Given the description of an element on the screen output the (x, y) to click on. 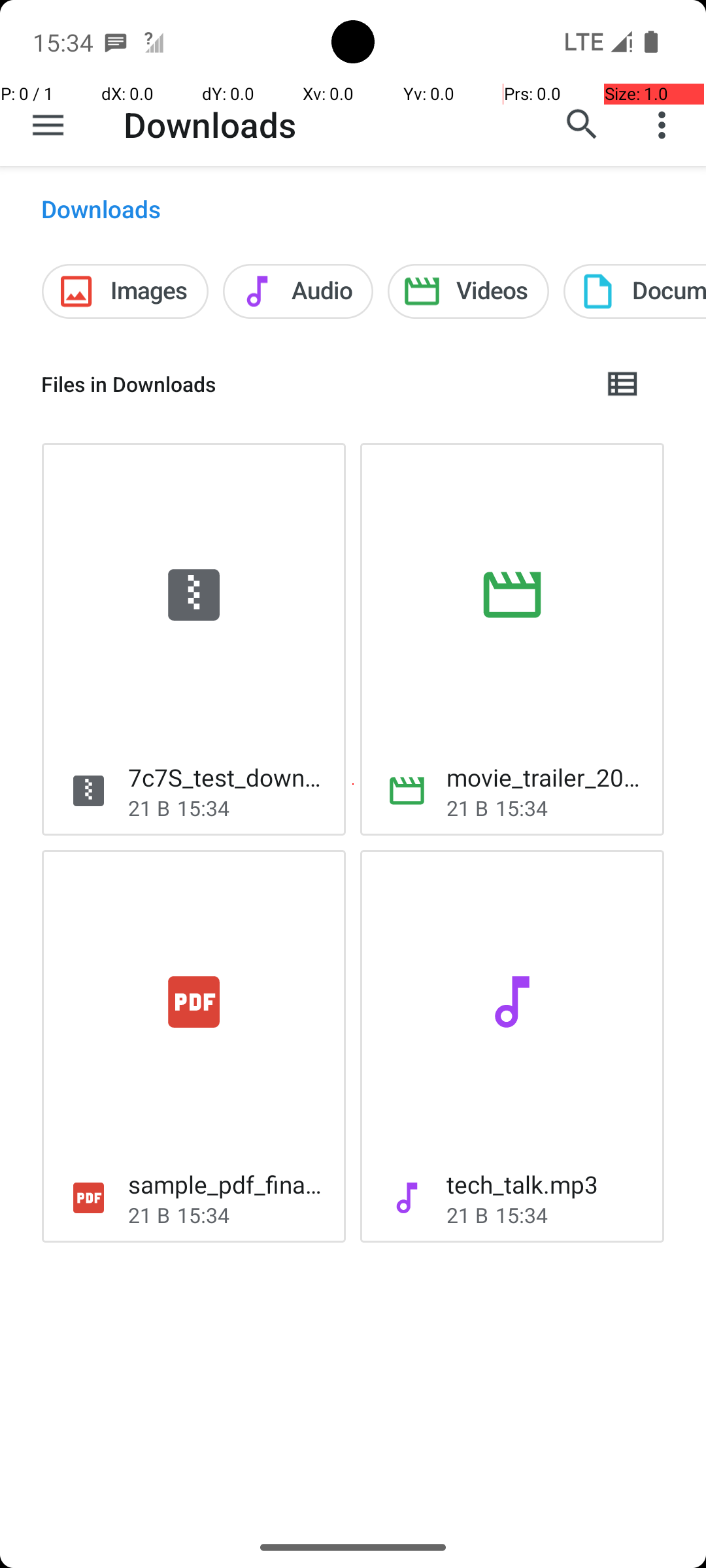
7c7S_test_download.zip Element type: android.widget.TextView (226, 776)
21 B Element type: android.widget.TextView (148, 807)
movie_trailer_2023_03_16.mp4 Element type: android.widget.TextView (544, 776)
sample_pdf_final.pdf Element type: android.widget.TextView (226, 1183)
tech_talk.mp3 Element type: android.widget.TextView (522, 1183)
